Given the description of an element on the screen output the (x, y) to click on. 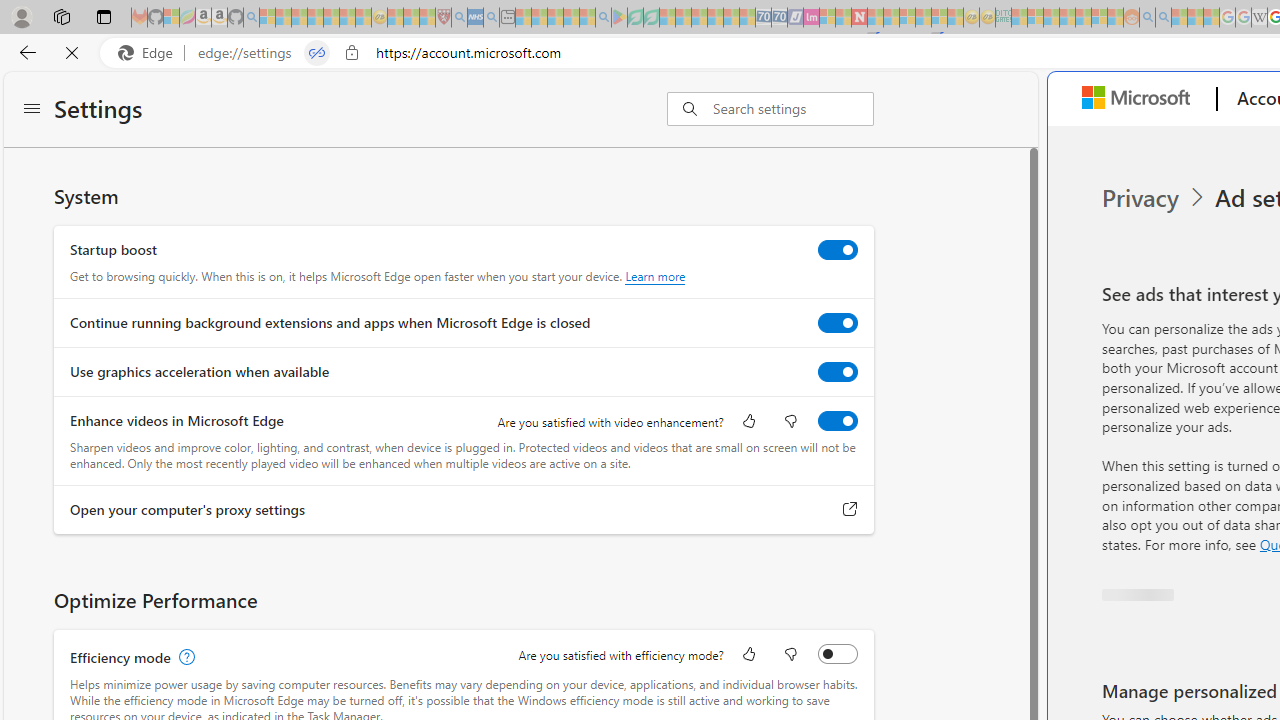
Cheap Hotels - Save70.com - Sleeping (779, 17)
Utah sues federal government - Search - Sleeping (1163, 17)
Terms of Use Agreement - Sleeping (635, 17)
Edge (150, 53)
Learn more (655, 276)
14 Common Myths Debunked By Scientific Facts - Sleeping (891, 17)
